Given the description of an element on the screen output the (x, y) to click on. 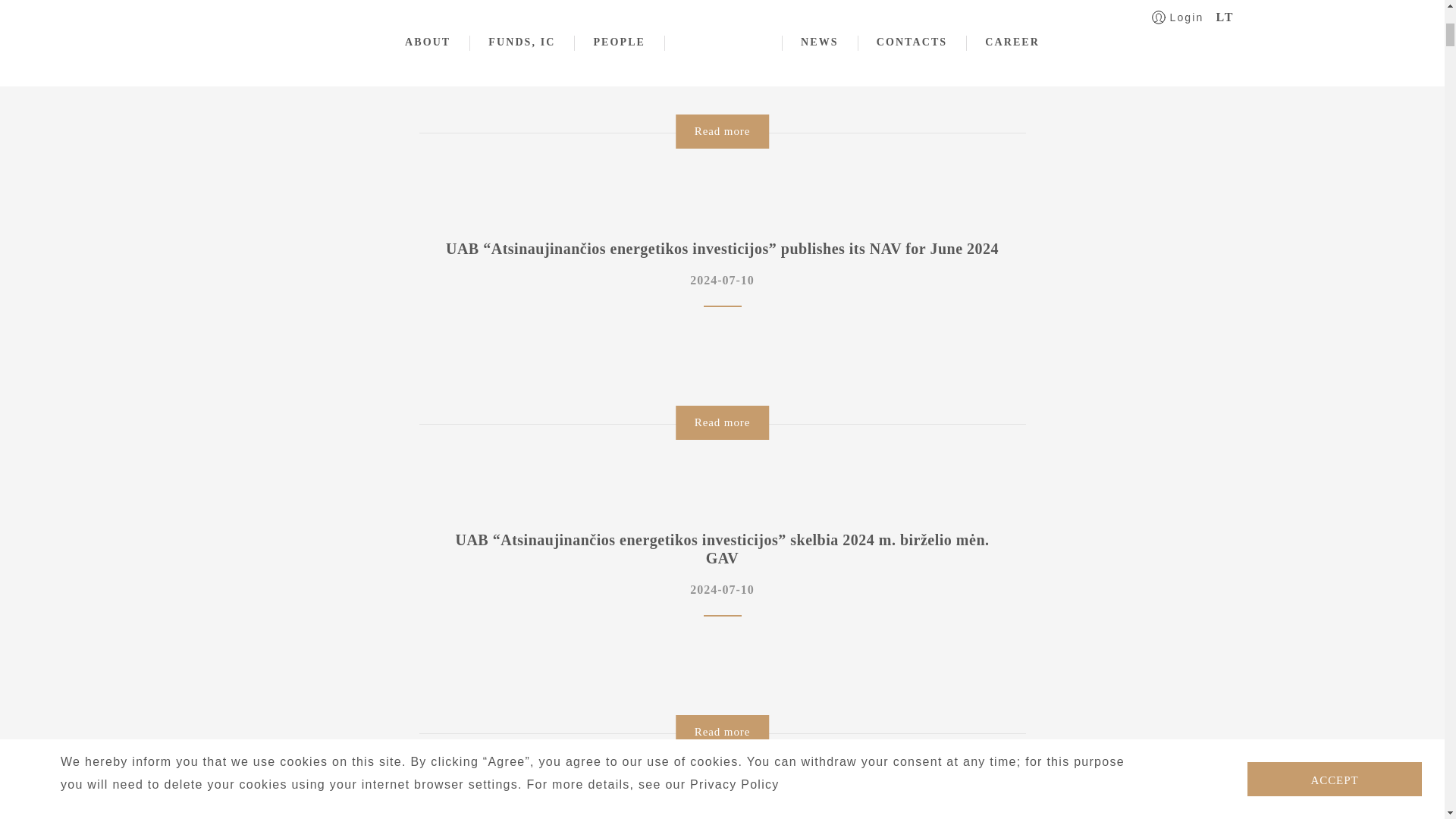
Read more (722, 422)
Read more (722, 131)
Read more (722, 731)
